Given the description of an element on the screen output the (x, y) to click on. 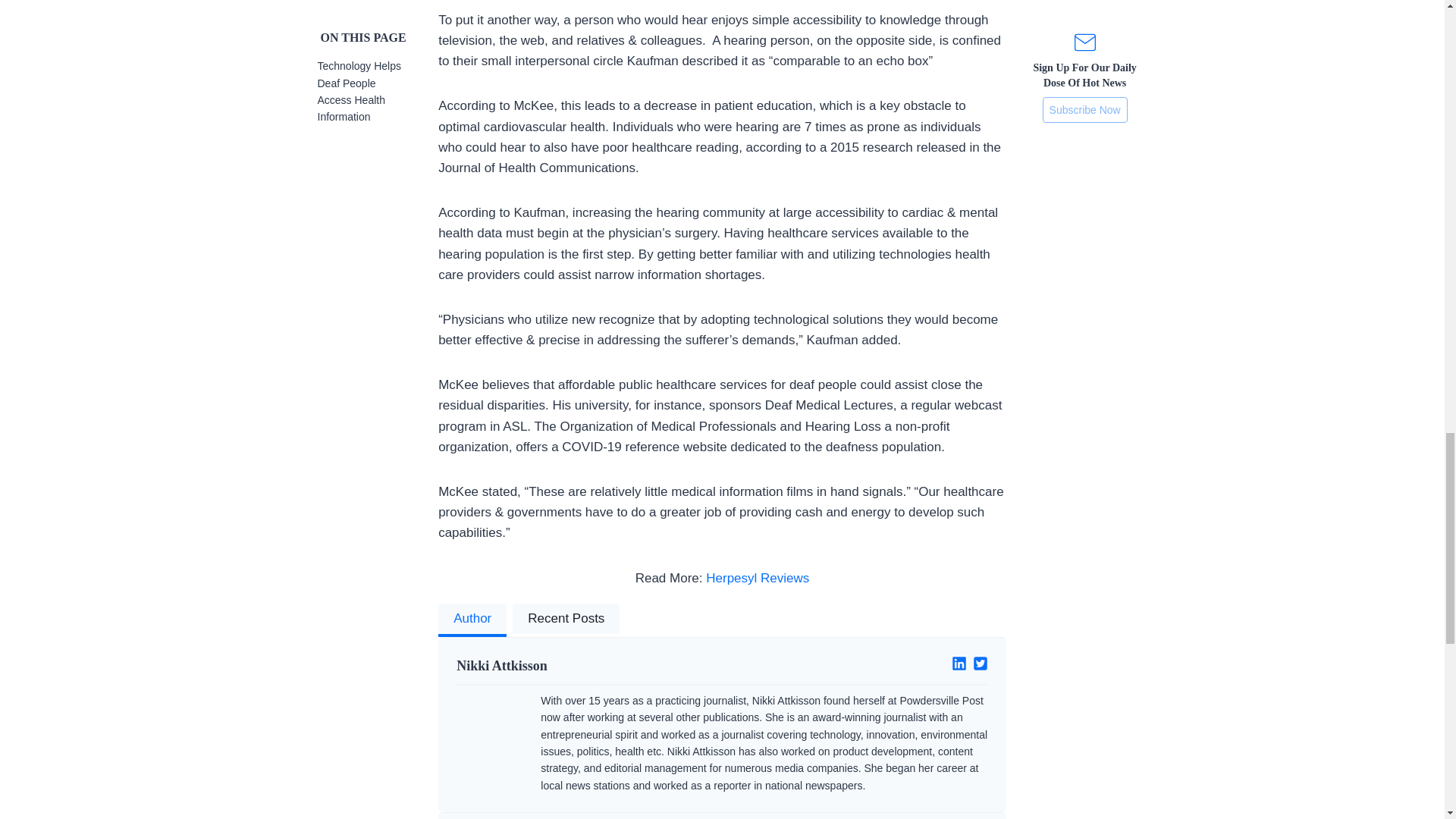
Herpesyl Reviews (757, 577)
Author (472, 620)
Nikki Attkisson (583, 666)
Recent Posts (566, 620)
